Given the description of an element on the screen output the (x, y) to click on. 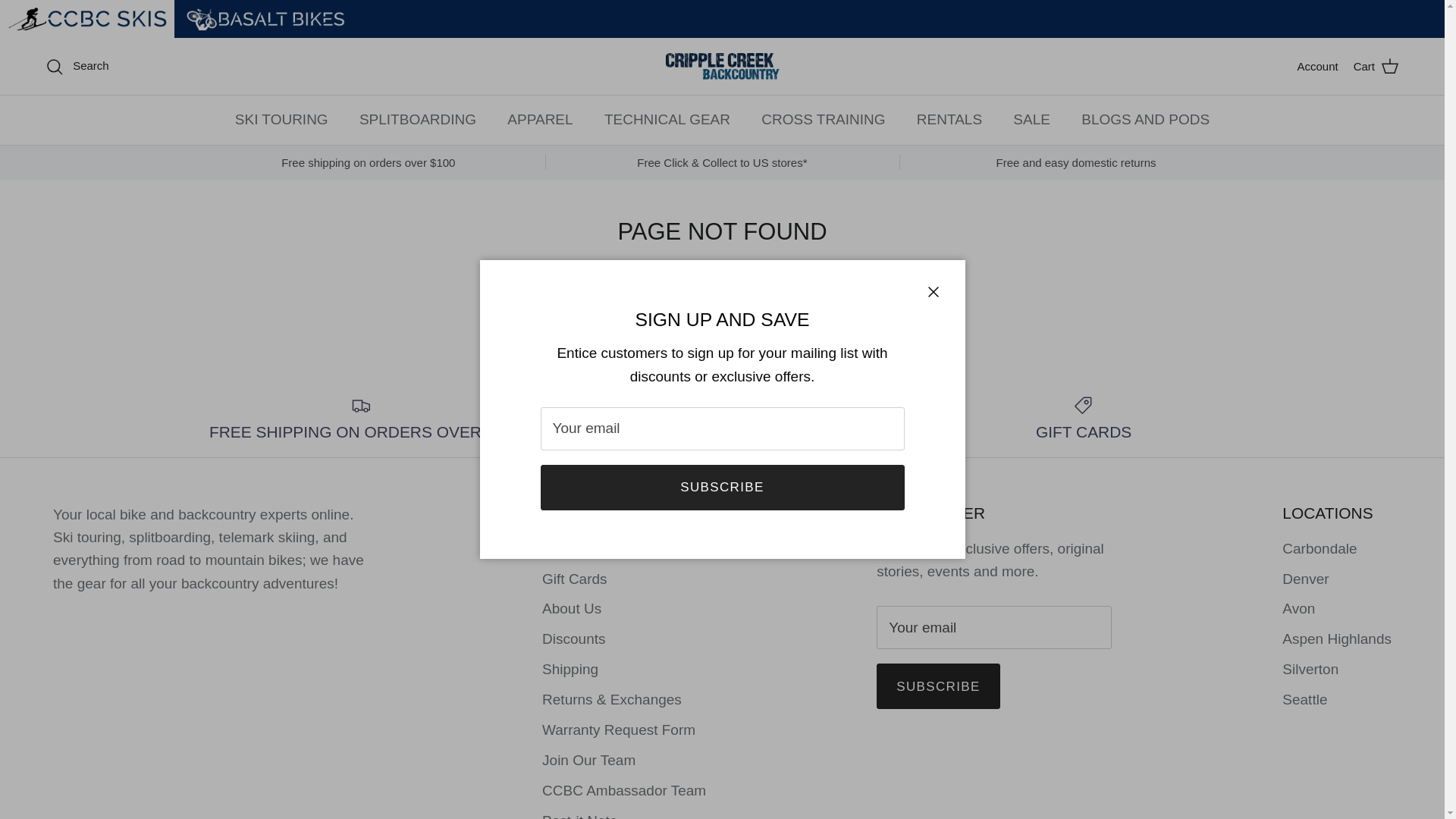
Cripple Creek Backcountry (721, 66)
Cart (1376, 66)
SKI TOURING (281, 119)
Account (1317, 66)
Search (77, 66)
